Given the description of an element on the screen output the (x, y) to click on. 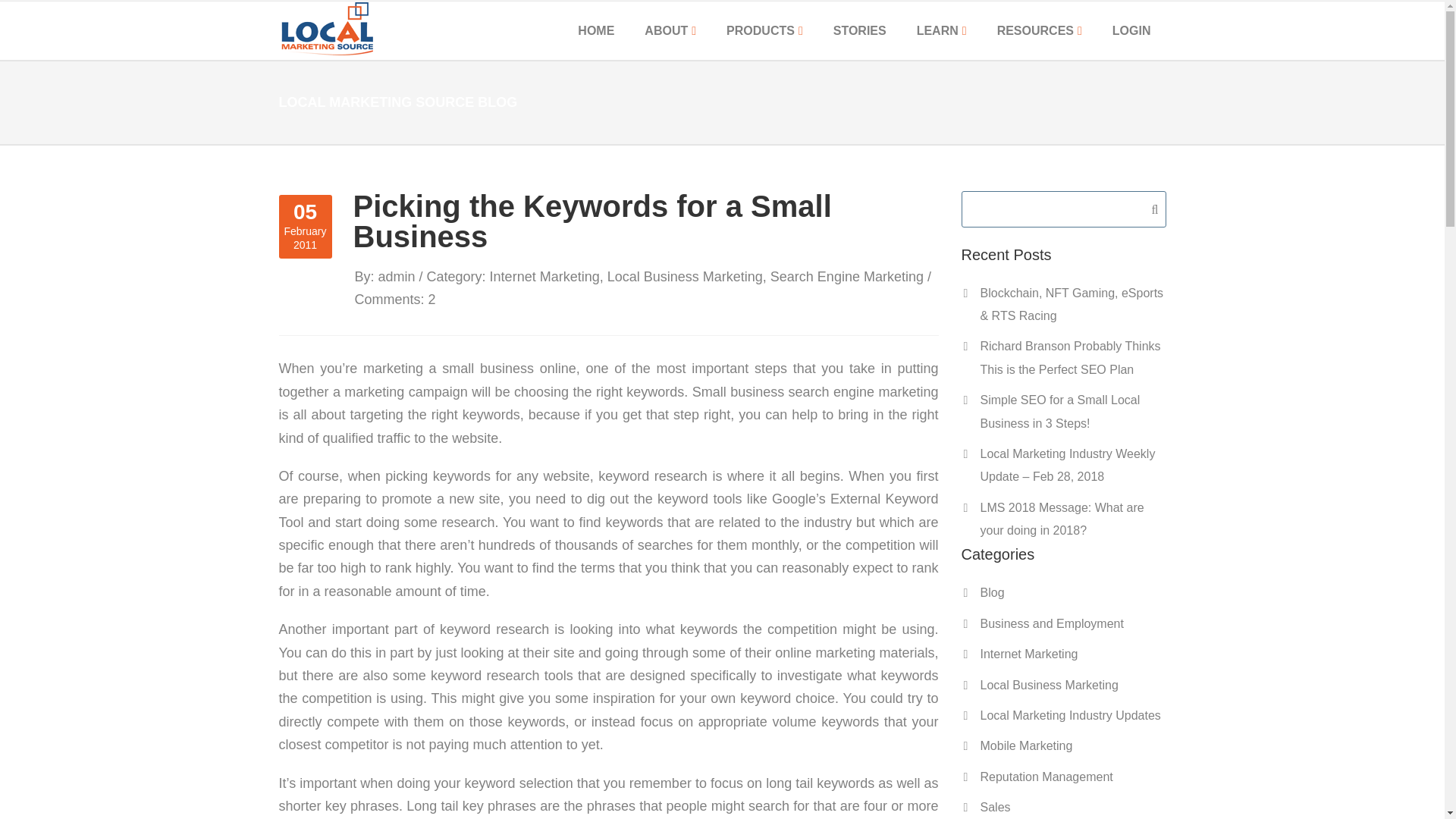
STORIES (859, 30)
Posts by admin (396, 276)
LOGIN (1131, 30)
ABOUT (669, 30)
PRODUCTS (764, 30)
LEARN (941, 30)
RESOURCES (1039, 30)
HOME (595, 30)
